Given the description of an element on the screen output the (x, y) to click on. 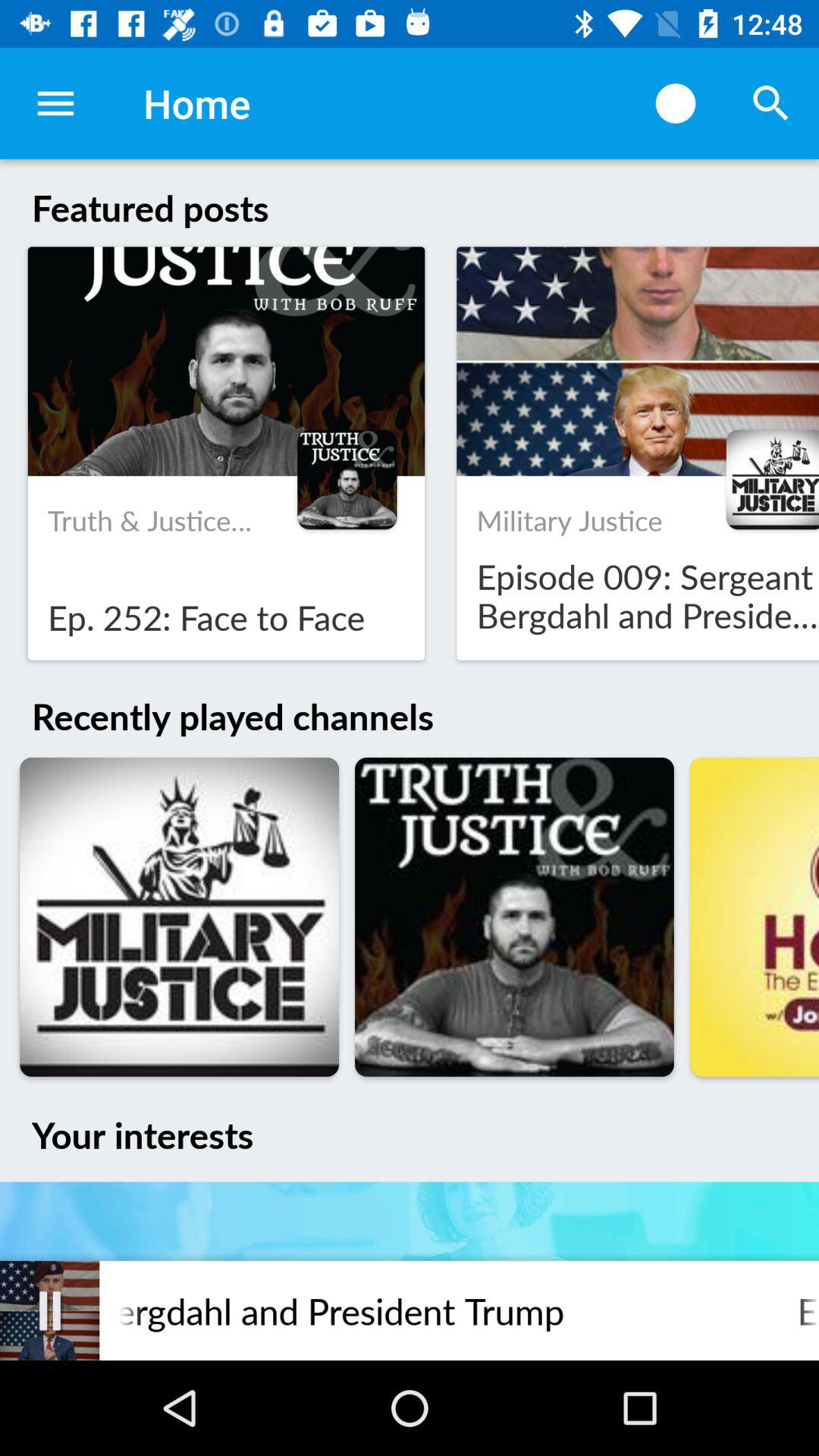
open icon to the left of the episode 009 sergeant icon (49, 1310)
